Given the description of an element on the screen output the (x, y) to click on. 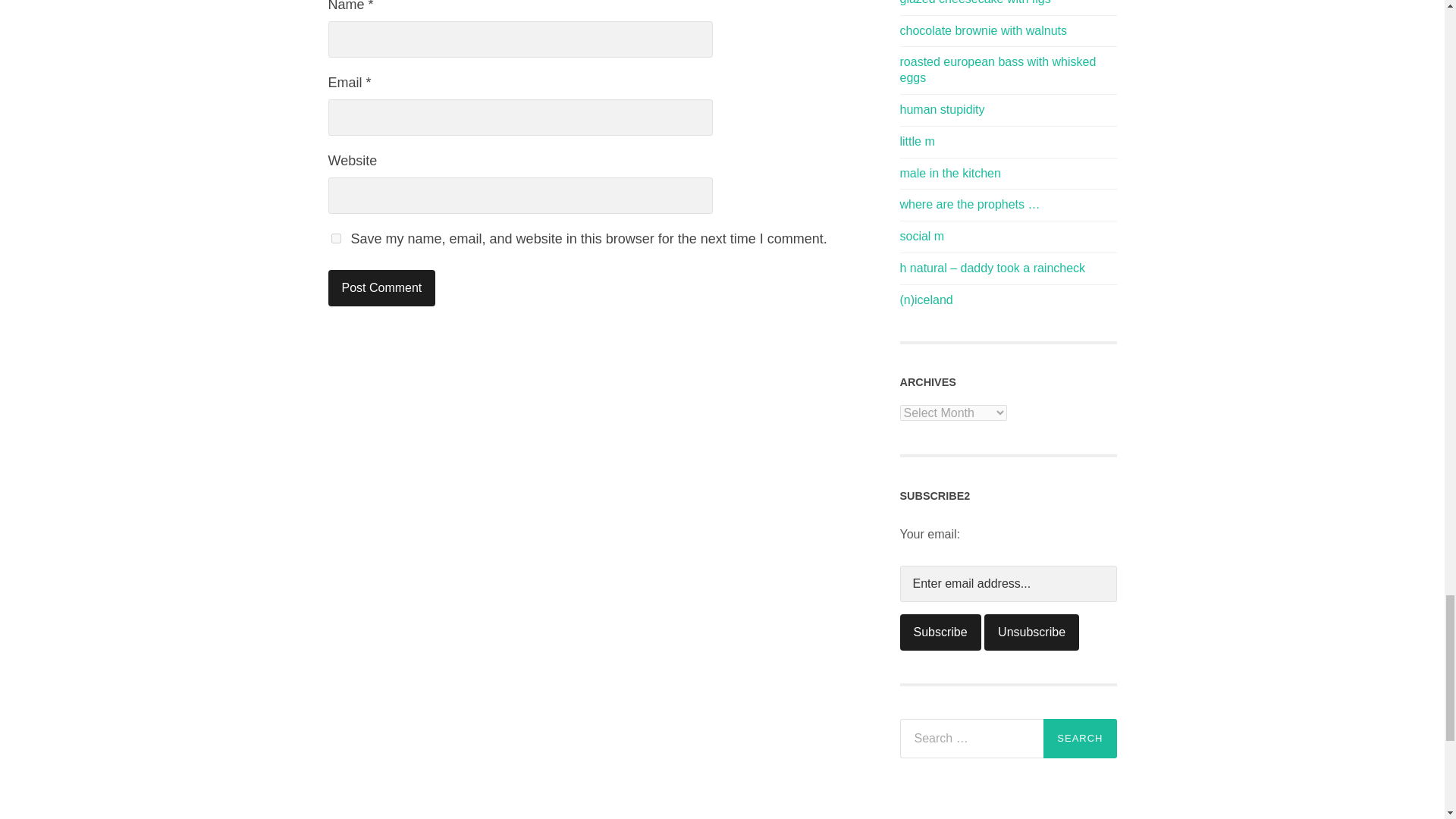
Subscribe (939, 632)
Unsubscribe (1031, 632)
yes (335, 238)
Enter email address... (1007, 583)
Post Comment (381, 288)
Post Comment (381, 288)
Search (1079, 738)
Search (1079, 738)
